Given the description of an element on the screen output the (x, y) to click on. 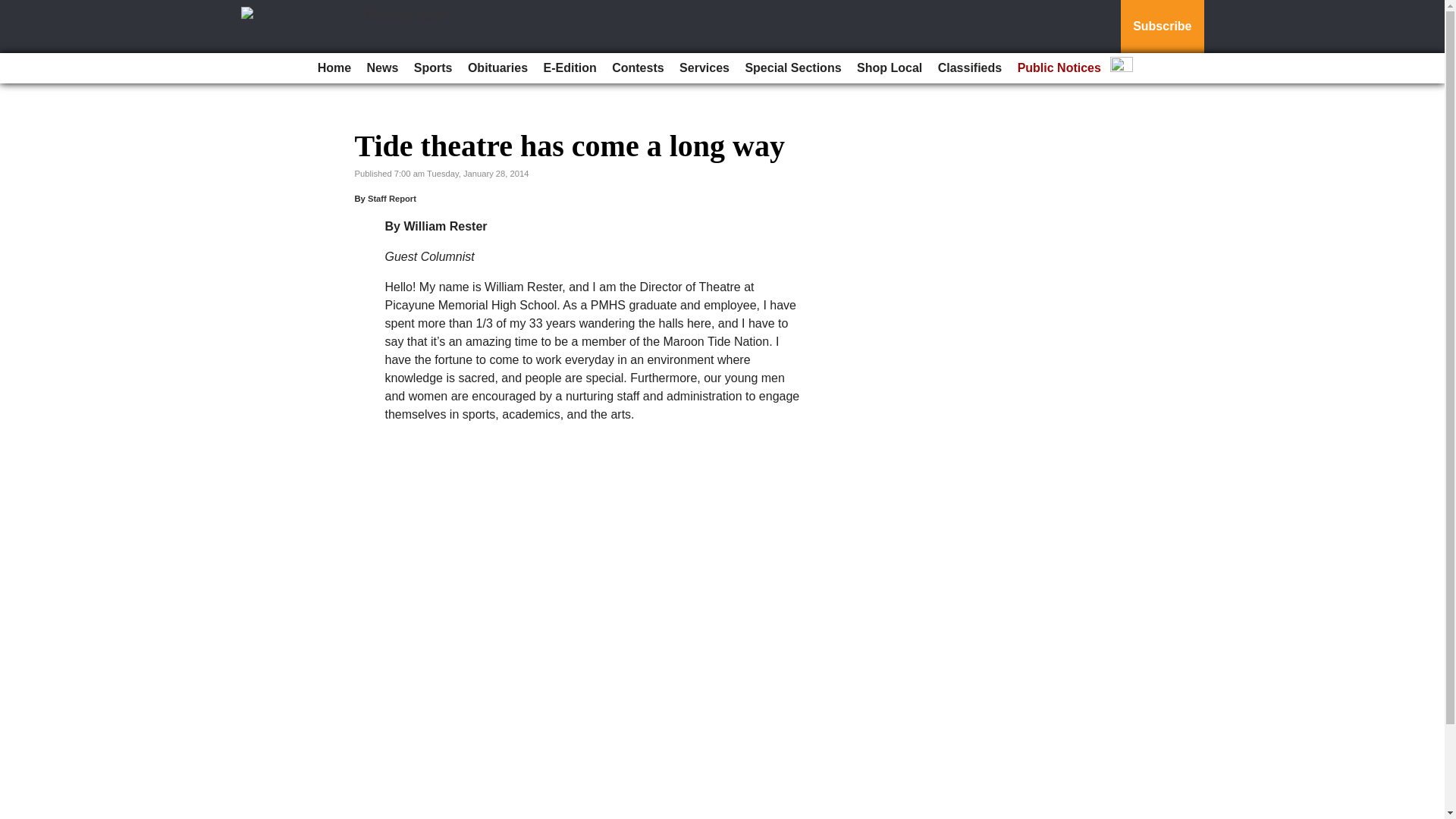
E-Edition (569, 68)
Shop Local (889, 68)
News (382, 68)
Sports (432, 68)
Staff Report (392, 198)
Special Sections (792, 68)
Public Notices (1058, 68)
Subscribe (1162, 26)
Home (333, 68)
Services (703, 68)
